Given the description of an element on the screen output the (x, y) to click on. 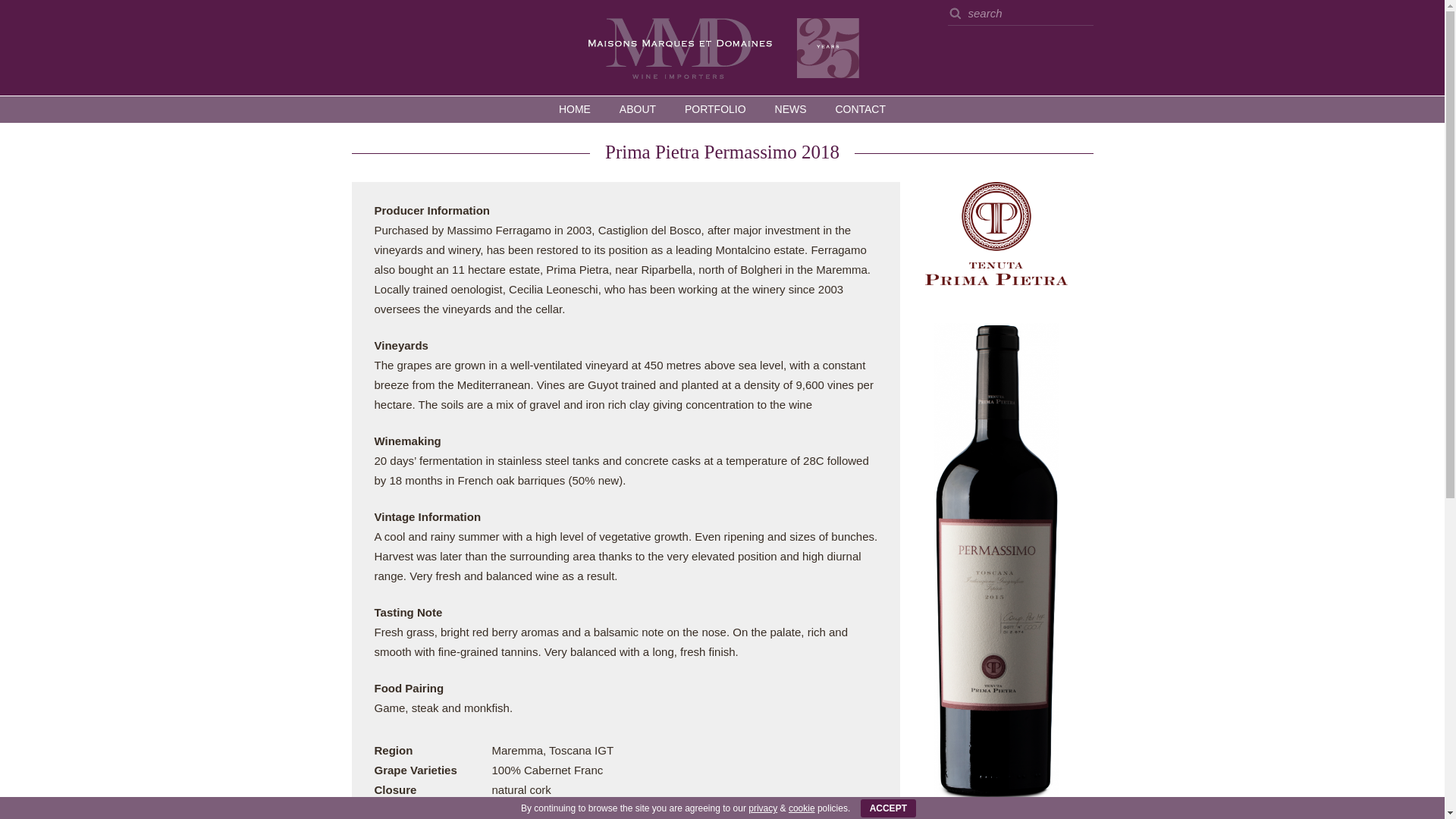
ABOUT (637, 109)
CONTACT (860, 109)
NEWS (790, 109)
ACCEPT (887, 808)
cookie (802, 808)
HOME (575, 109)
PORTFOLIO (714, 109)
privacy (762, 808)
